Given the description of an element on the screen output the (x, y) to click on. 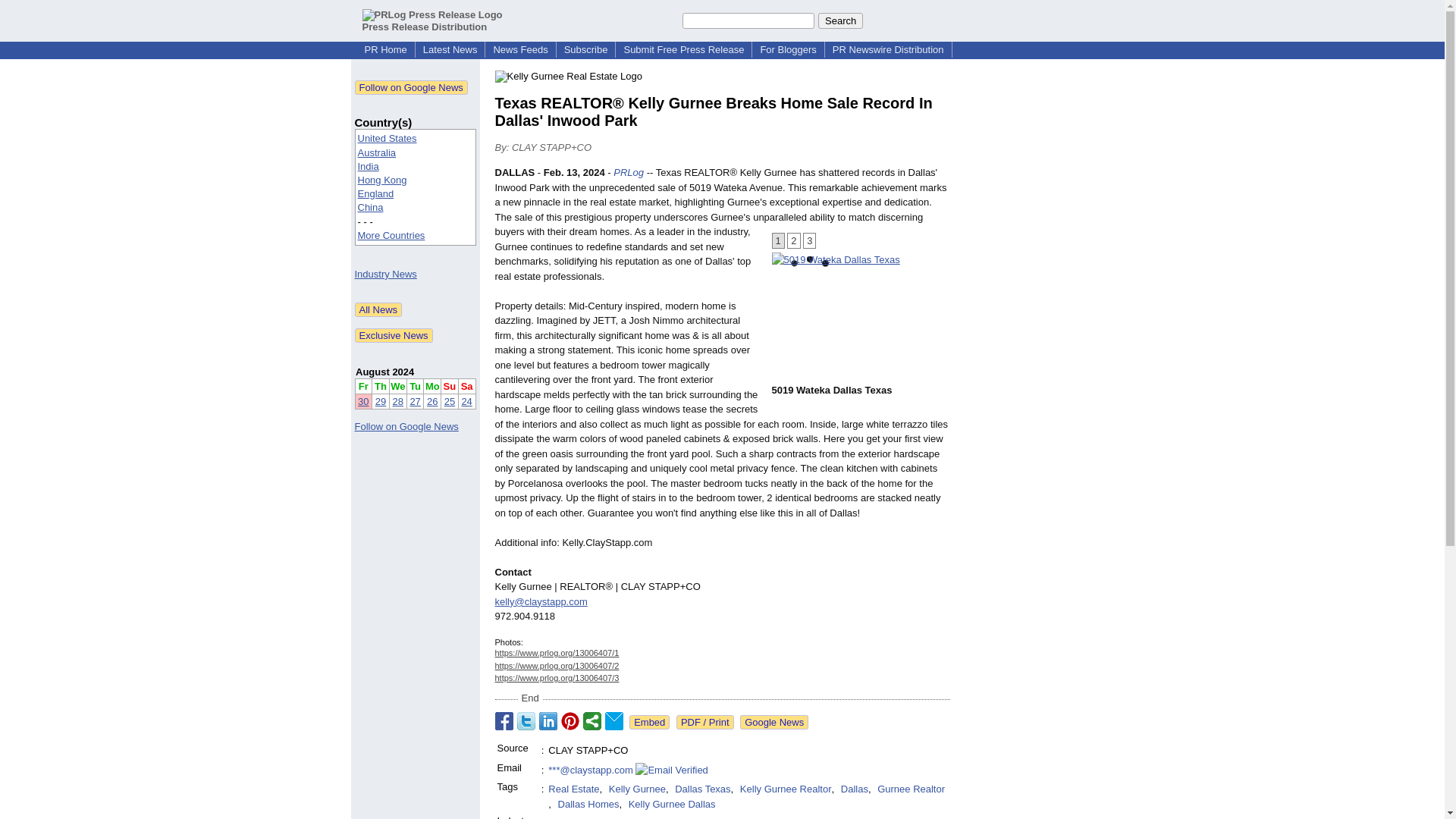
Press Release Distribution (432, 20)
For Bloggers (788, 49)
Embed this press release in your website! (648, 721)
Embed (648, 721)
News Feeds (519, 49)
PRLog (627, 172)
United States (387, 138)
PR Newswire Distribution (888, 49)
See or print the PDF version! (705, 721)
5019 Wateka Dallas Texas (835, 259)
